Given the description of an element on the screen output the (x, y) to click on. 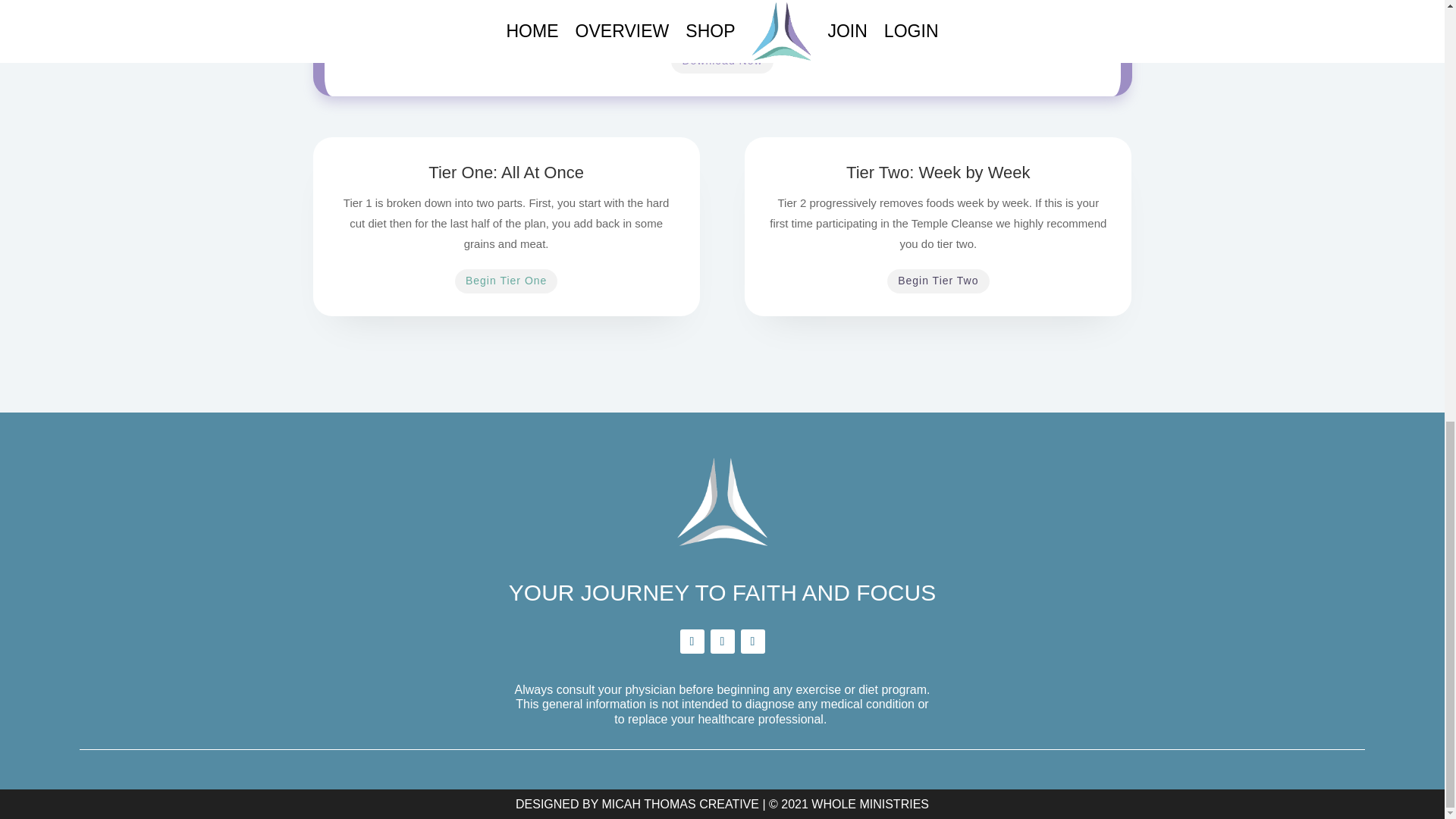
Begin Tier One (505, 281)
MICAH THOMAS CREATIVE (680, 803)
Follow on Youtube (751, 641)
Follow on Pinterest (721, 641)
Follow on Facebook (691, 641)
Begin Tier Two (937, 281)
Download Now (722, 61)
